Given the description of an element on the screen output the (x, y) to click on. 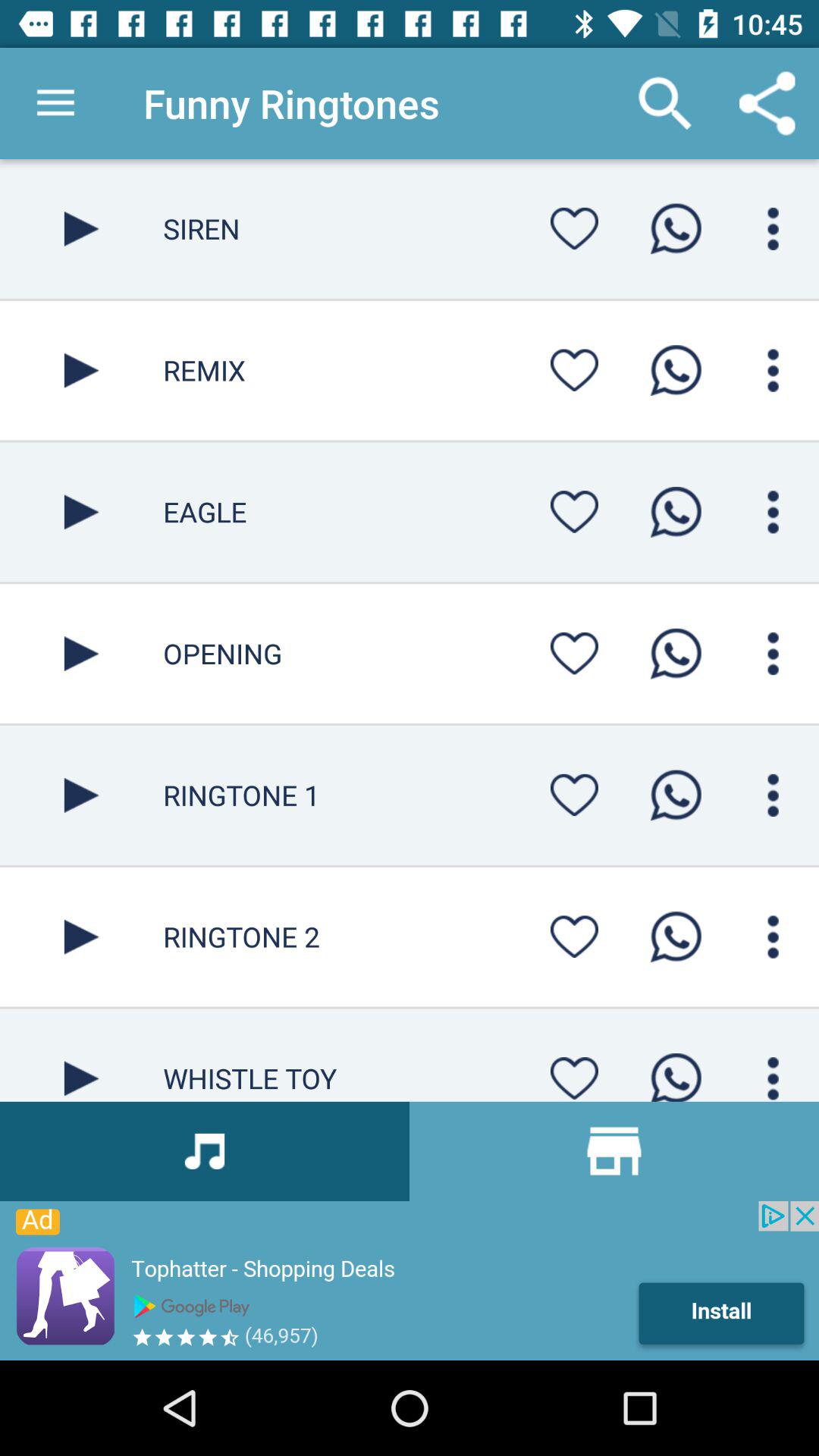
share on whatapp option (675, 936)
